Given the description of an element on the screen output the (x, y) to click on. 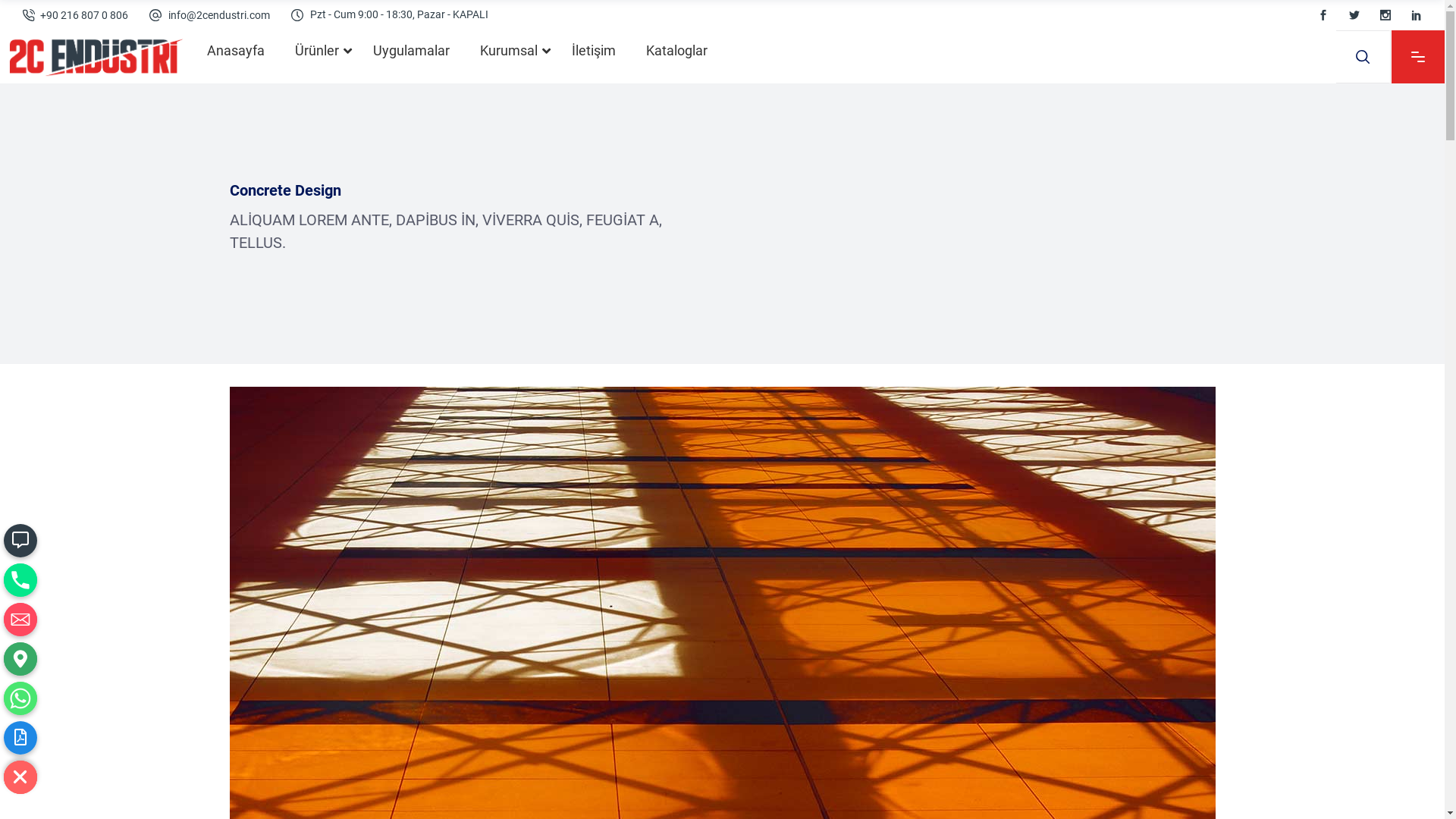
Anasayfa Element type: text (235, 50)
Kurumsal Element type: text (510, 50)
Uygulamalar Element type: text (410, 50)
+90 216 807 0 806 Element type: text (84, 15)
info@2cendustri.com Element type: text (218, 15)
Kataloglar Element type: text (676, 50)
